Given the description of an element on the screen output the (x, y) to click on. 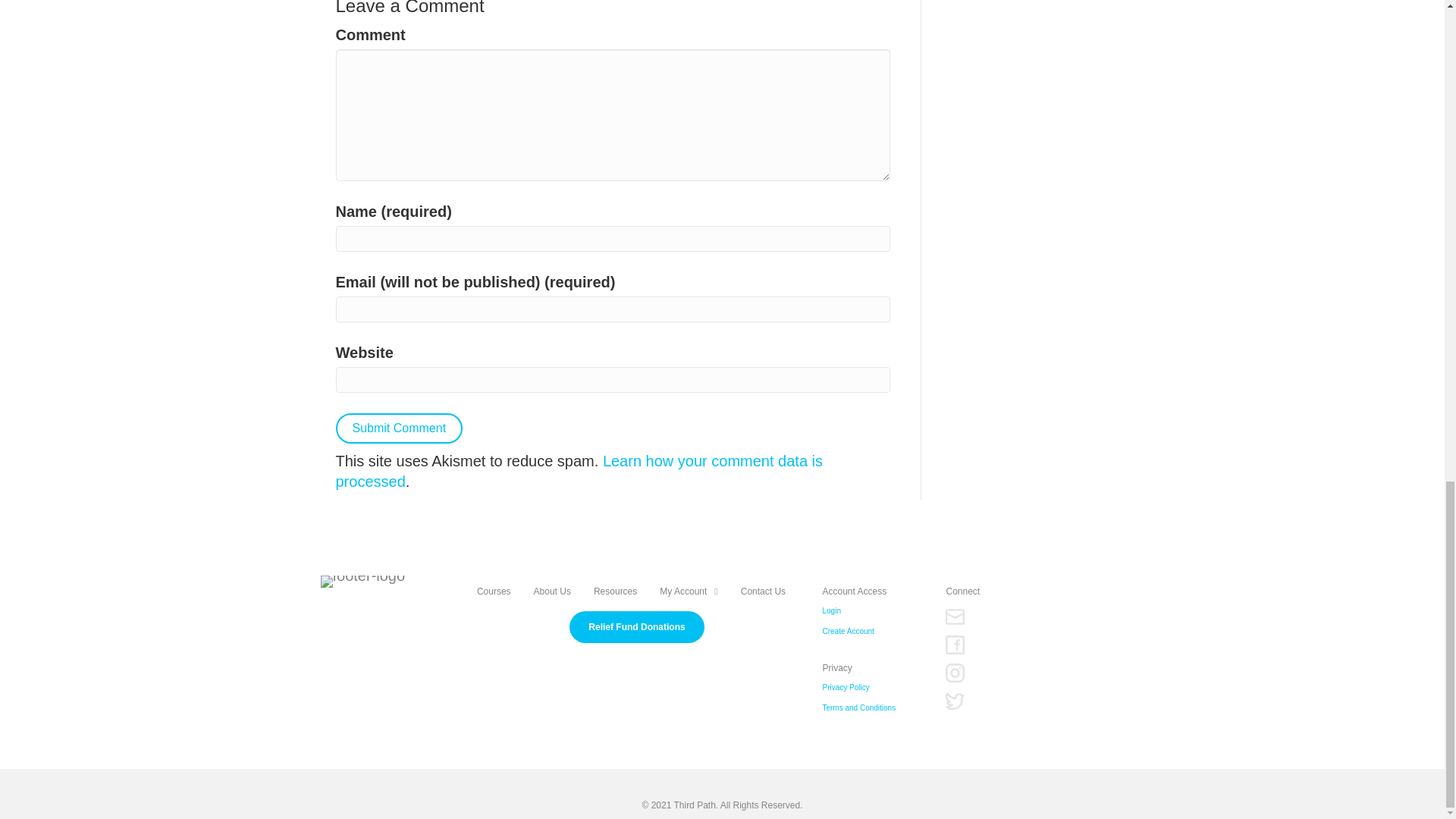
Relief Fund Donations (636, 627)
Contact Us (763, 591)
Resources (615, 591)
My Account (688, 591)
Terms and Conditions (858, 704)
Login (831, 610)
Courses (493, 591)
About Us (551, 591)
footer-logo (362, 581)
Privacy Policy (845, 684)
Submit Comment (398, 428)
Create Account (847, 631)
Learn how your comment data is processed (578, 470)
Submit Comment (398, 428)
